Given the description of an element on the screen output the (x, y) to click on. 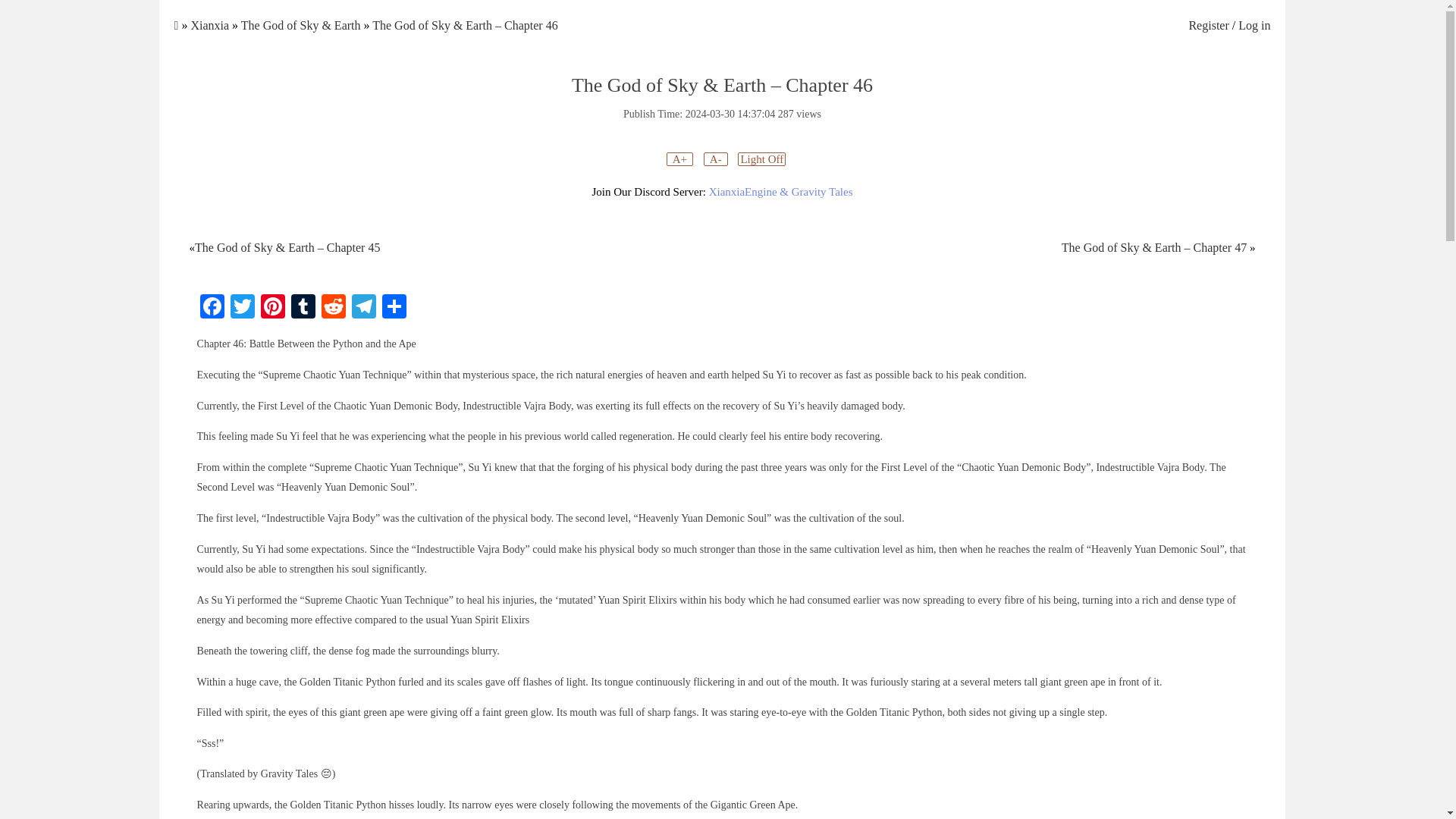
Facebook (211, 308)
Reddit (333, 308)
Facebook (211, 308)
Telegram (363, 308)
Pinterest (272, 308)
Pinterest (272, 308)
Twitter (242, 308)
Tumblr (303, 308)
Tumblr (303, 308)
Twitter (242, 308)
